Given the description of an element on the screen output the (x, y) to click on. 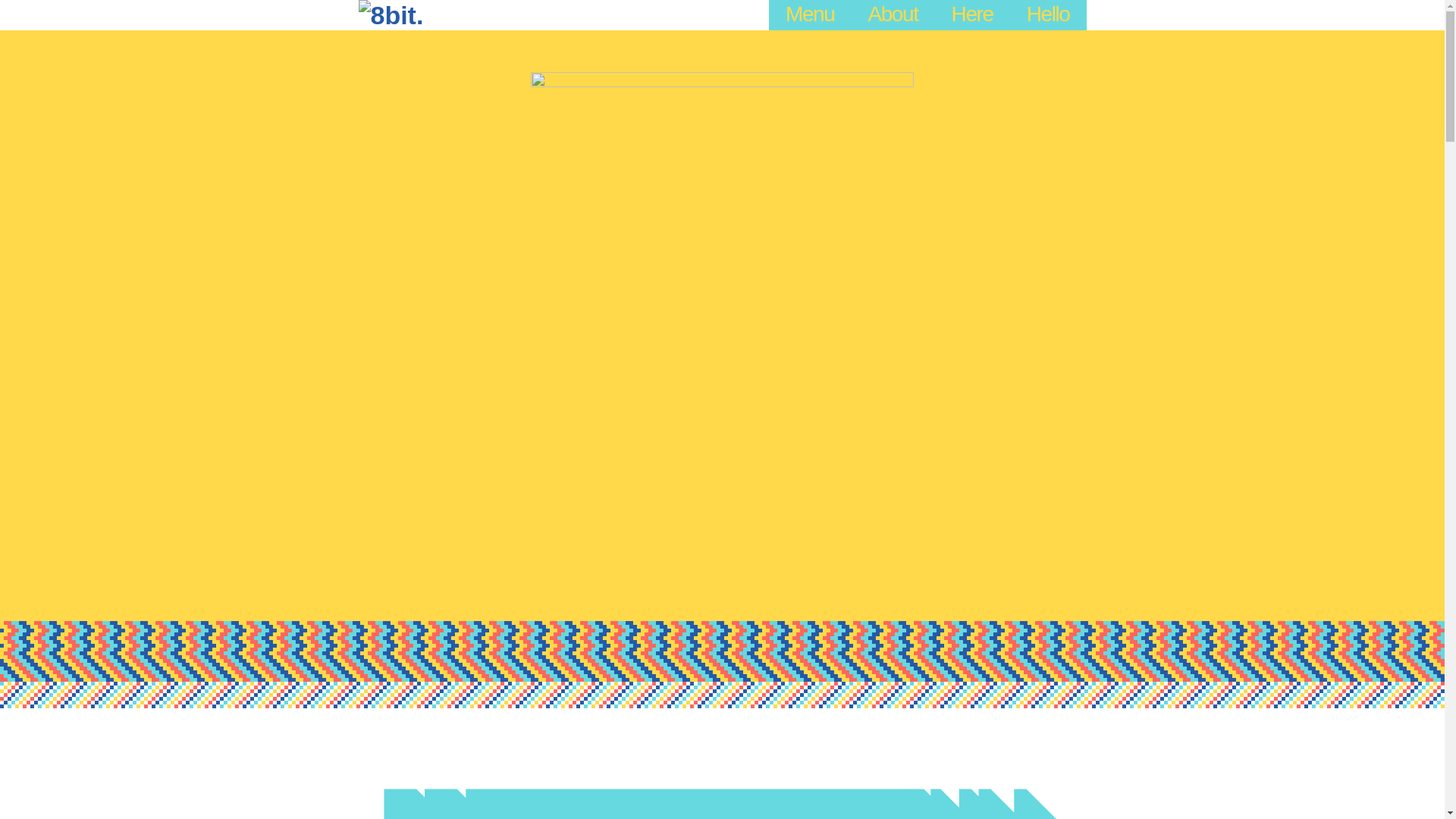
Hello Element type: text (1048, 15)
Here Element type: text (972, 15)
Menu Element type: text (809, 15)
About Element type: text (892, 15)
